Given the description of an element on the screen output the (x, y) to click on. 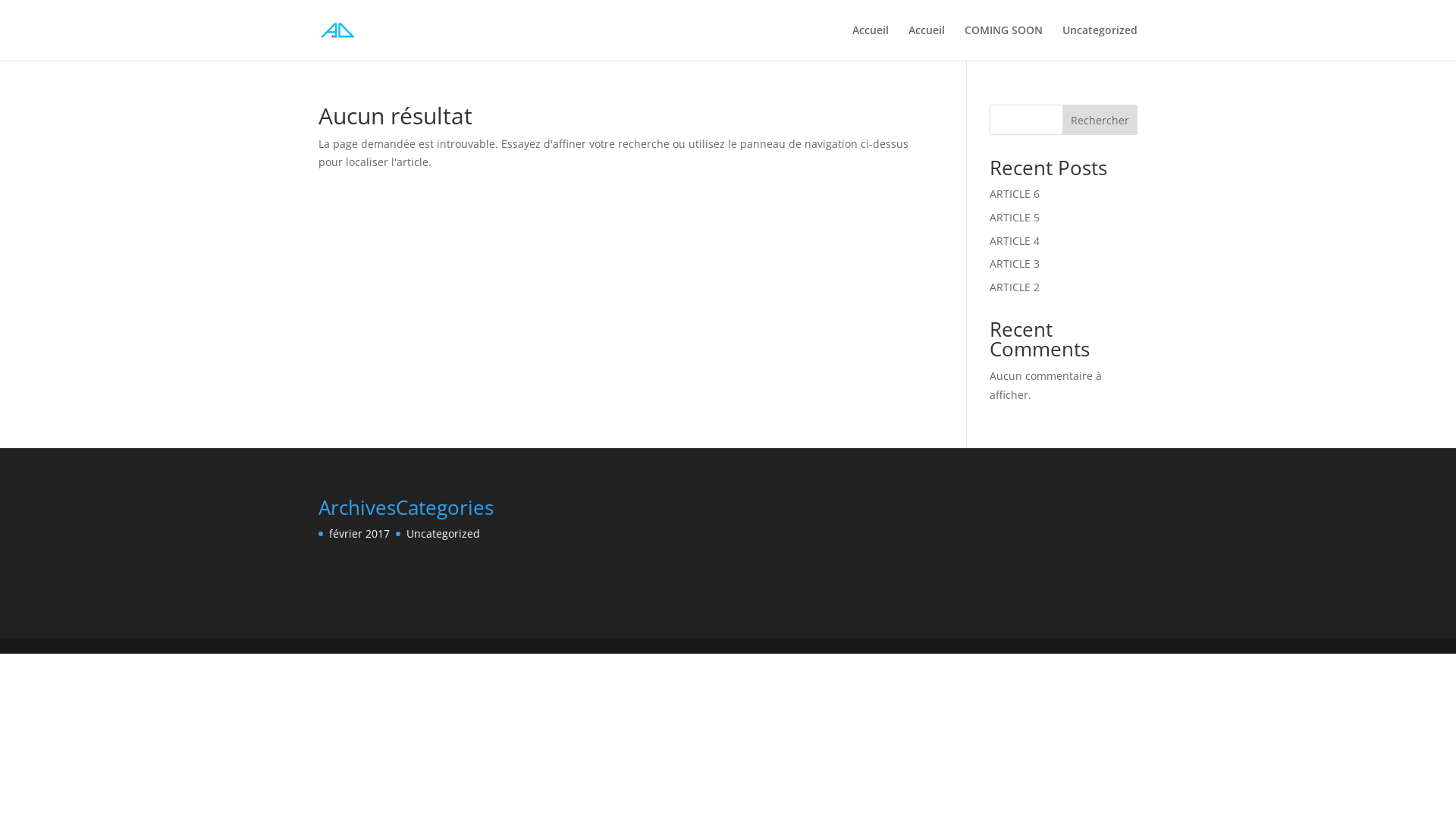
Uncategorized Element type: text (1099, 42)
Accueil Element type: text (926, 42)
Rechercher Element type: text (1099, 119)
ARTICLE 5 Element type: text (1014, 217)
ARTICLE 4 Element type: text (1014, 240)
COMING SOON Element type: text (1003, 42)
ARTICLE 2 Element type: text (1014, 286)
ARTICLE 6 Element type: text (1014, 193)
Accueil Element type: text (870, 42)
Uncategorized Element type: text (443, 533)
ARTICLE 3 Element type: text (1014, 263)
